Given the description of an element on the screen output the (x, y) to click on. 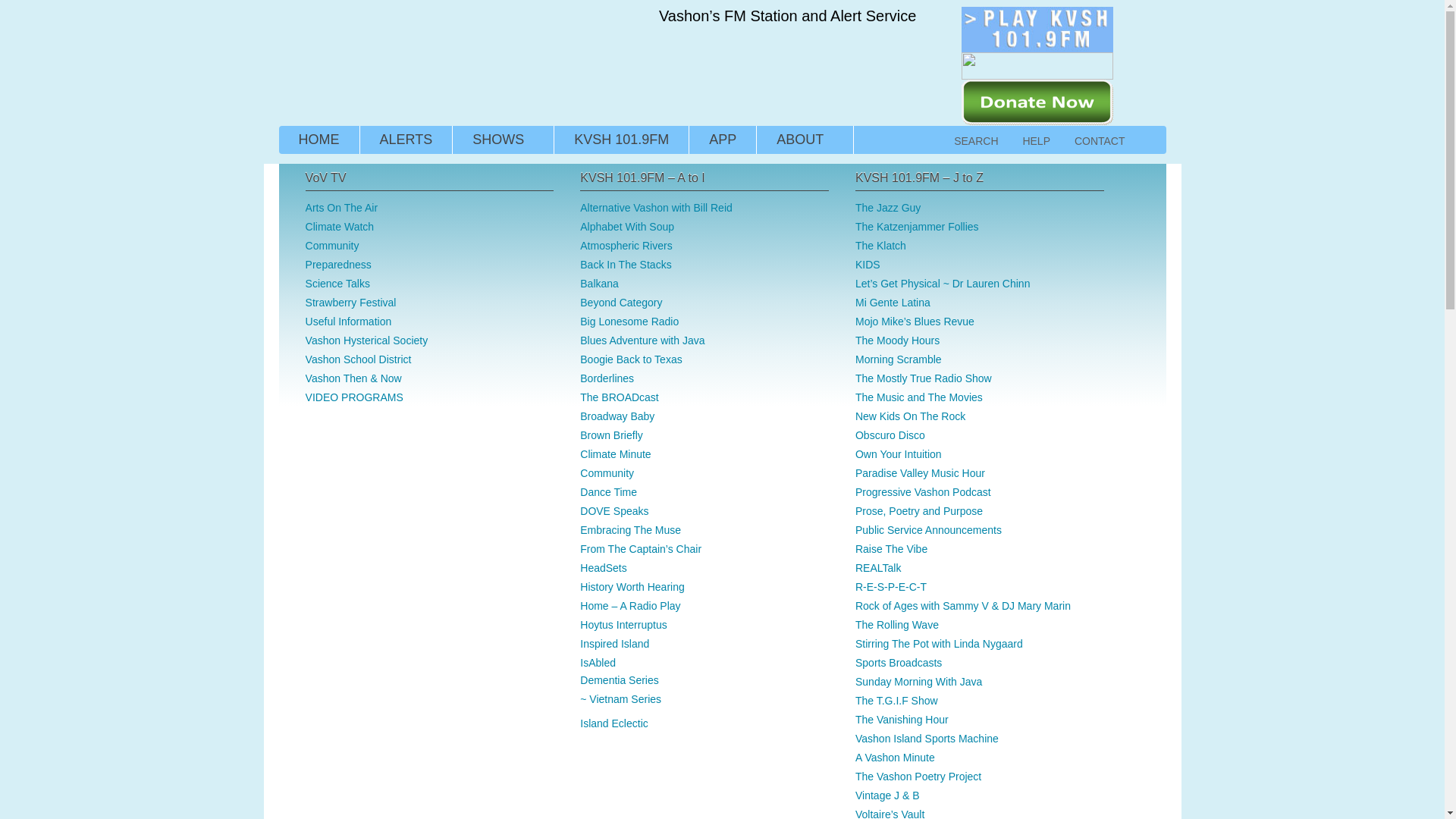
Brown Briefly (610, 435)
VIDEO PROGRAMS (354, 397)
HELP (1035, 141)
Boogie Back to Texas (630, 358)
Community (332, 245)
Blues Adventure with Java (641, 340)
CONTACT (1099, 141)
Beyond Category (620, 302)
Useful Information (348, 321)
ALERTS (405, 139)
Dance Time (608, 491)
Arts On The Air (341, 207)
Borderlines (606, 378)
Broadway Baby (616, 416)
Big Lonesome Radio (628, 321)
